Given the description of an element on the screen output the (x, y) to click on. 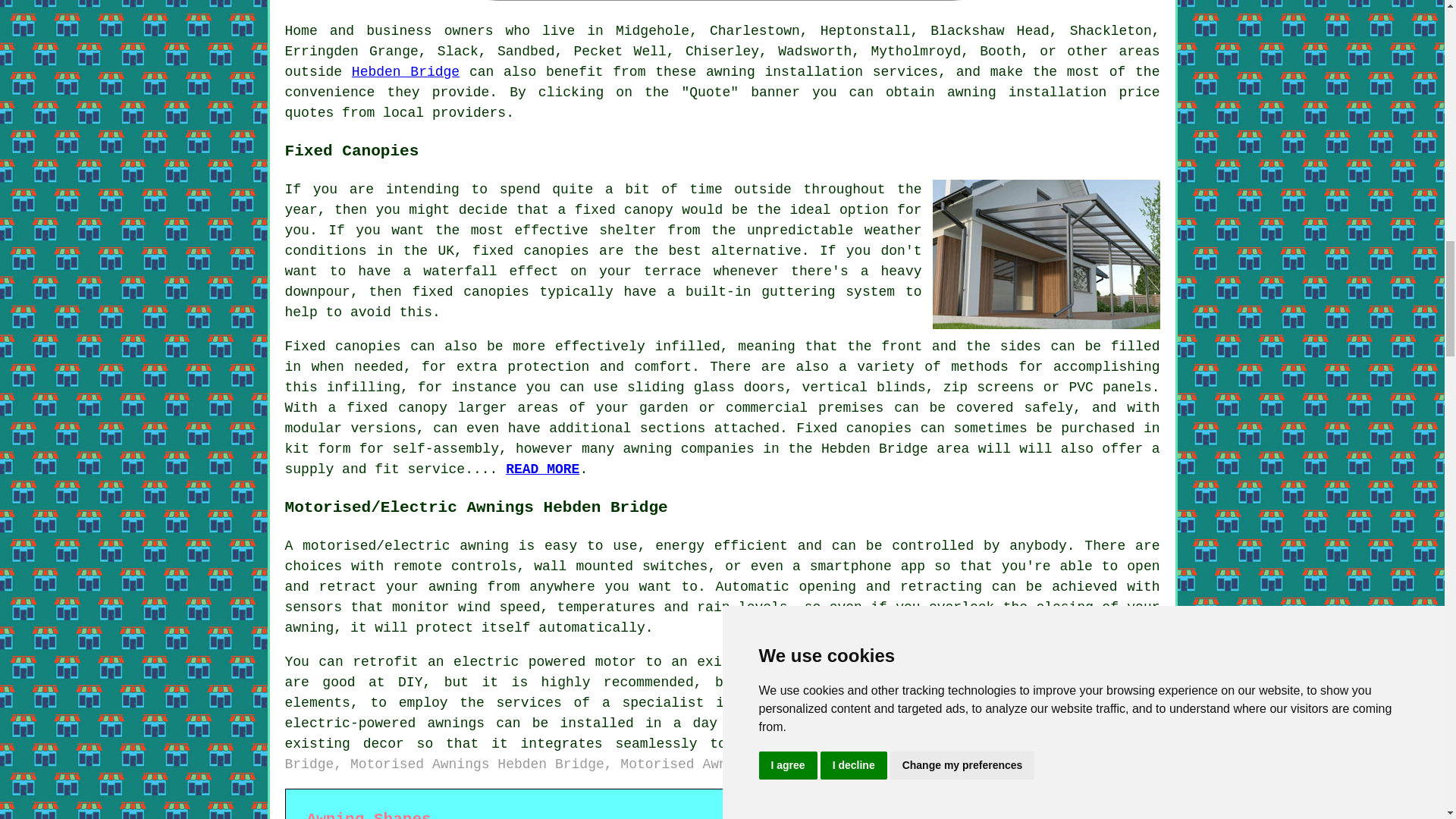
Fixed Patio Canopies (542, 468)
awning (730, 71)
Fixed Canopies Hebden Bridge (1046, 254)
fixed canopies (530, 250)
awning (971, 92)
